Given the description of an element on the screen output the (x, y) to click on. 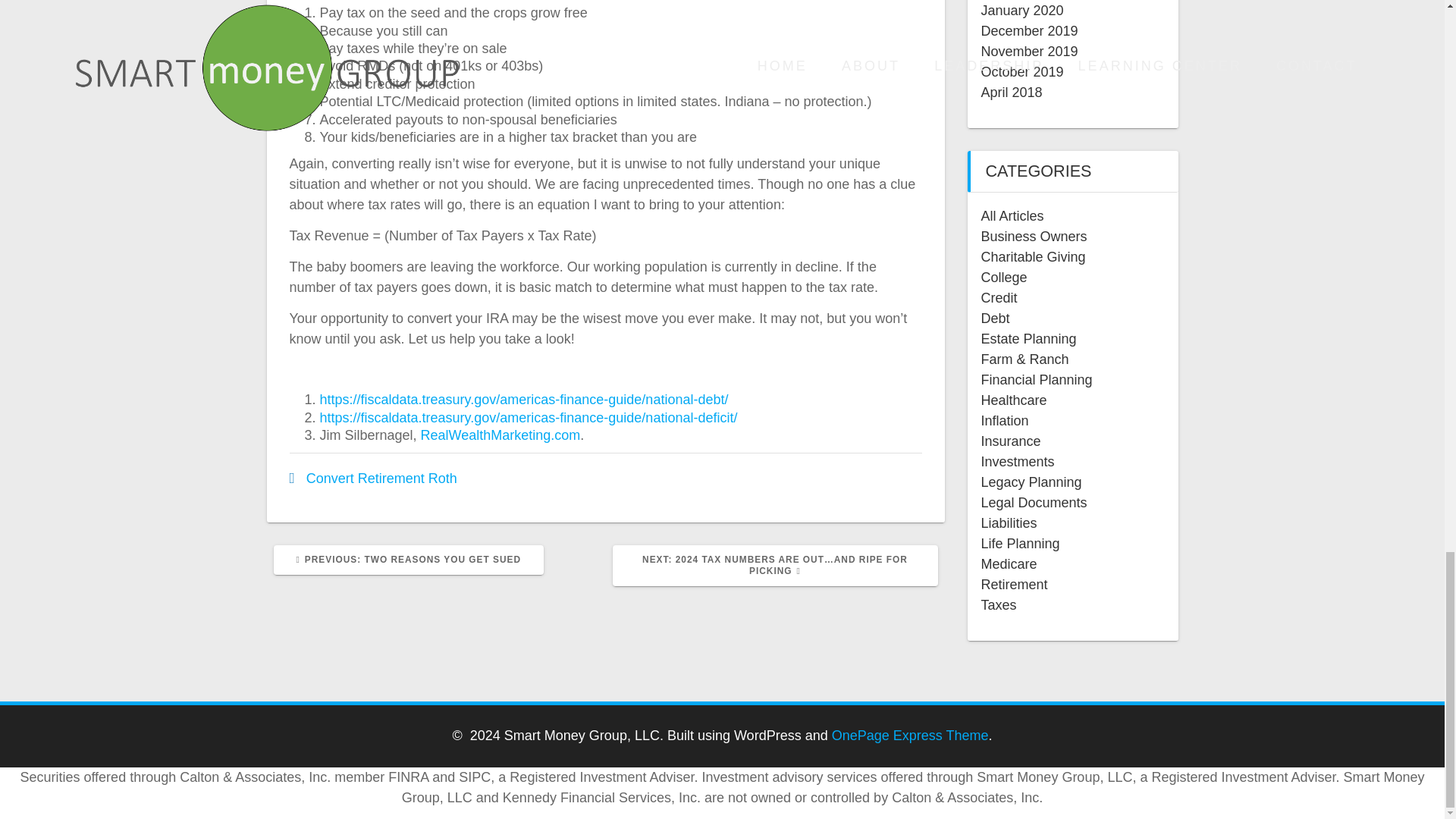
Roth (442, 478)
RealWealthMarketing.com (408, 559)
Convert (500, 435)
Retirement (329, 478)
